Given the description of an element on the screen output the (x, y) to click on. 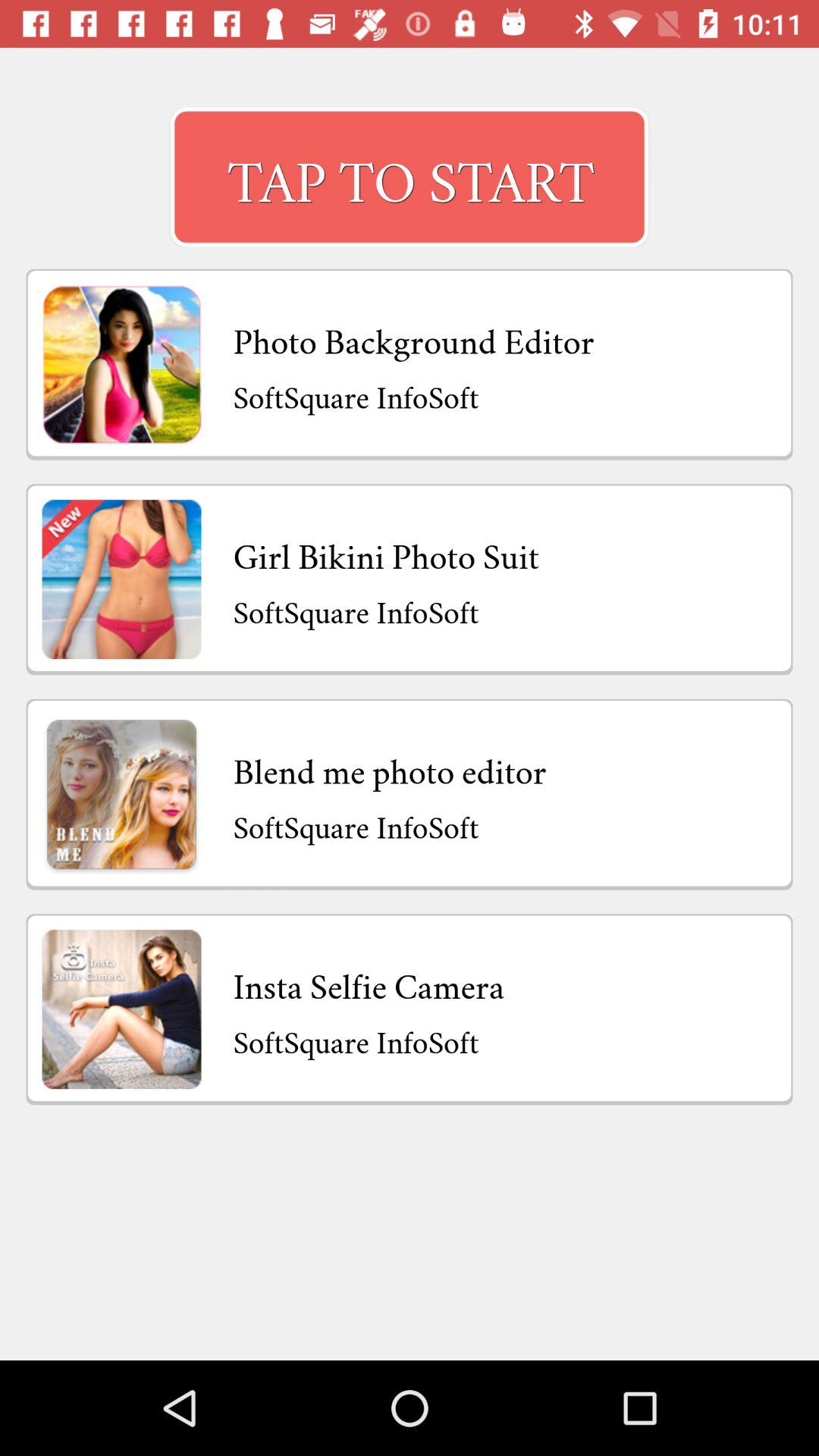
select the second image (121, 579)
click on first image from top (121, 364)
